Given the description of an element on the screen output the (x, y) to click on. 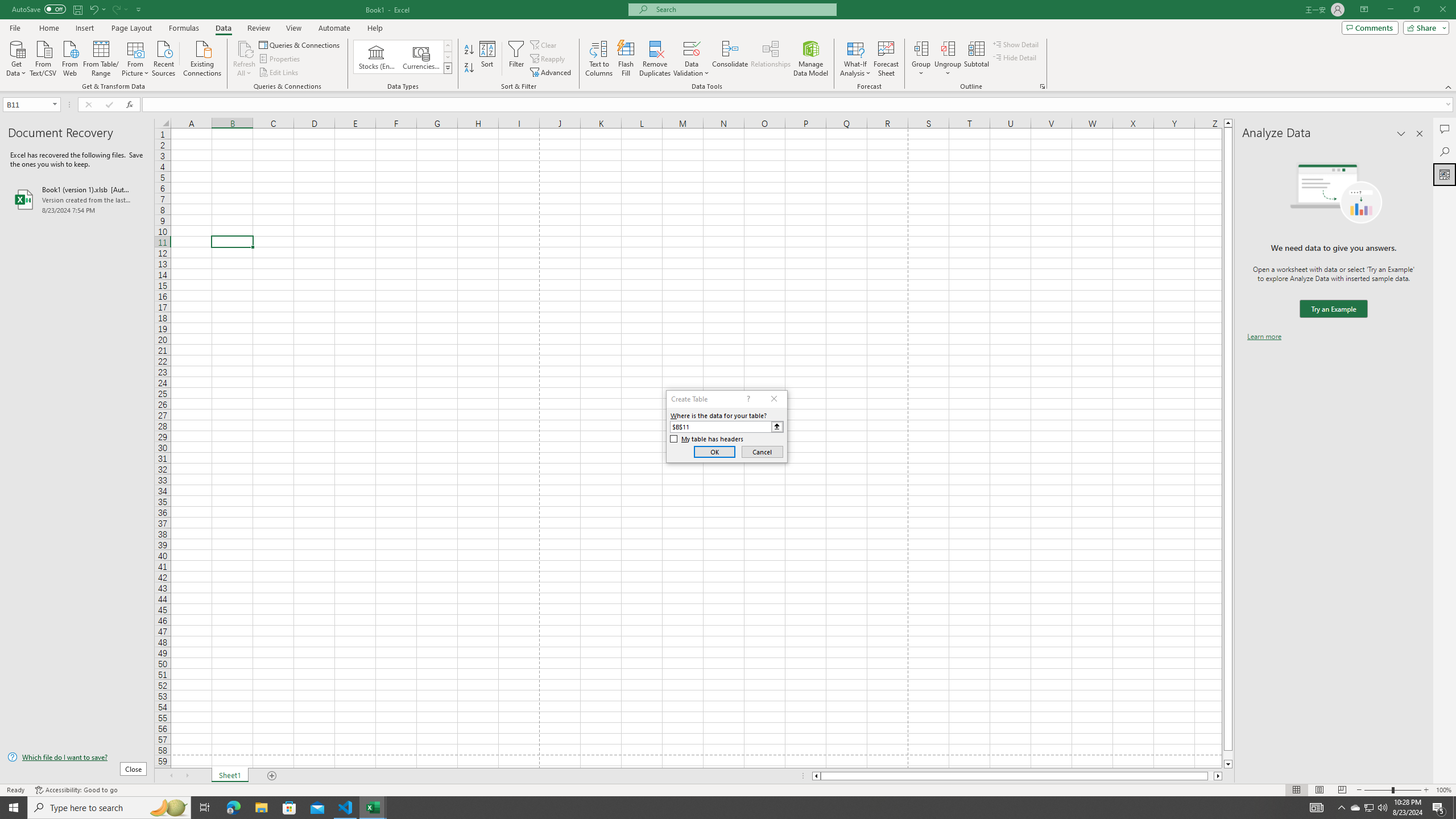
Properties (280, 58)
Edit Links (279, 72)
Queries & Connections (300, 44)
Text to Columns... (598, 58)
Data Types (448, 67)
